Given the description of an element on the screen output the (x, y) to click on. 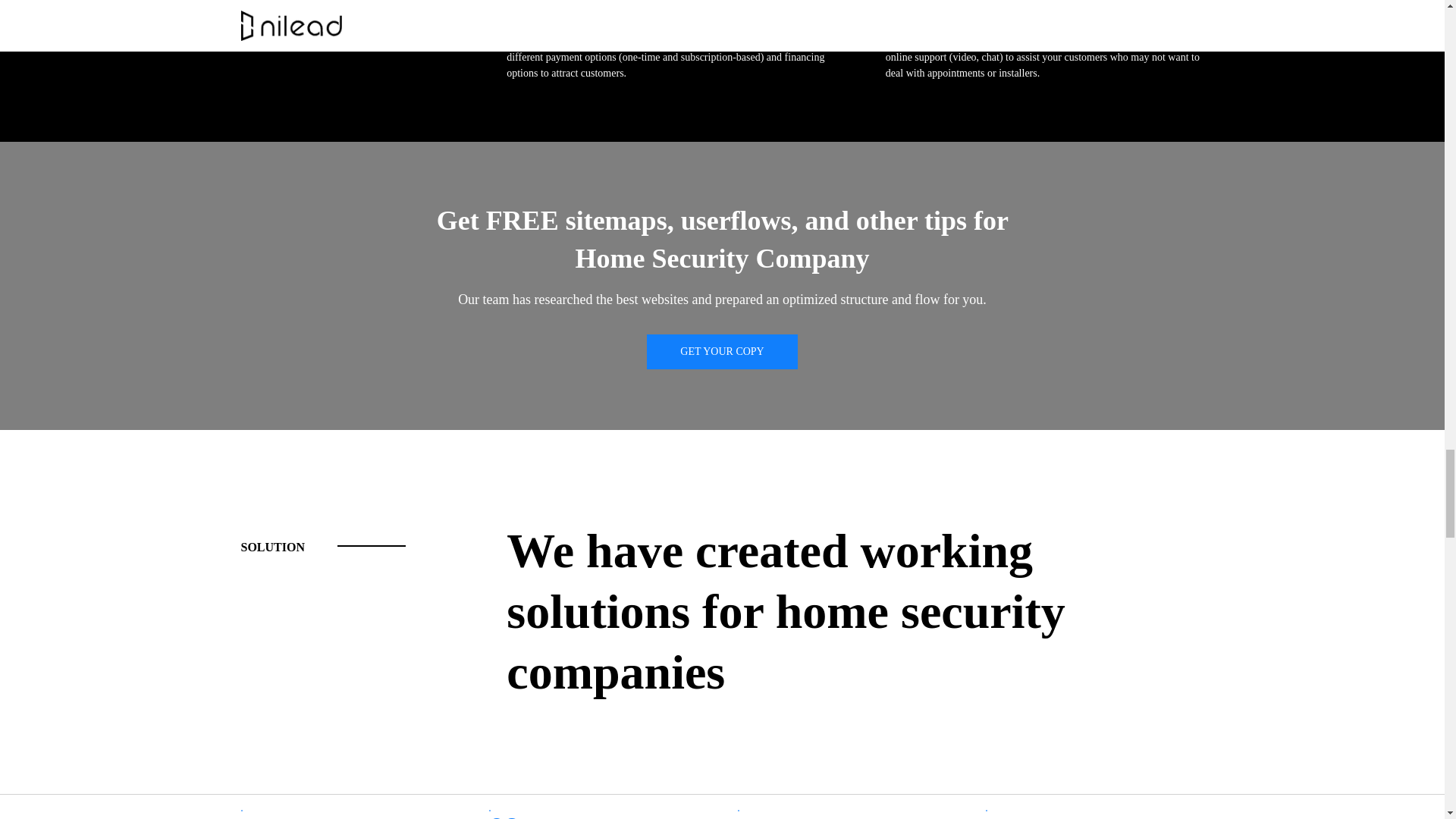
GET YOUR COPY (721, 351)
